Given the description of an element on the screen output the (x, y) to click on. 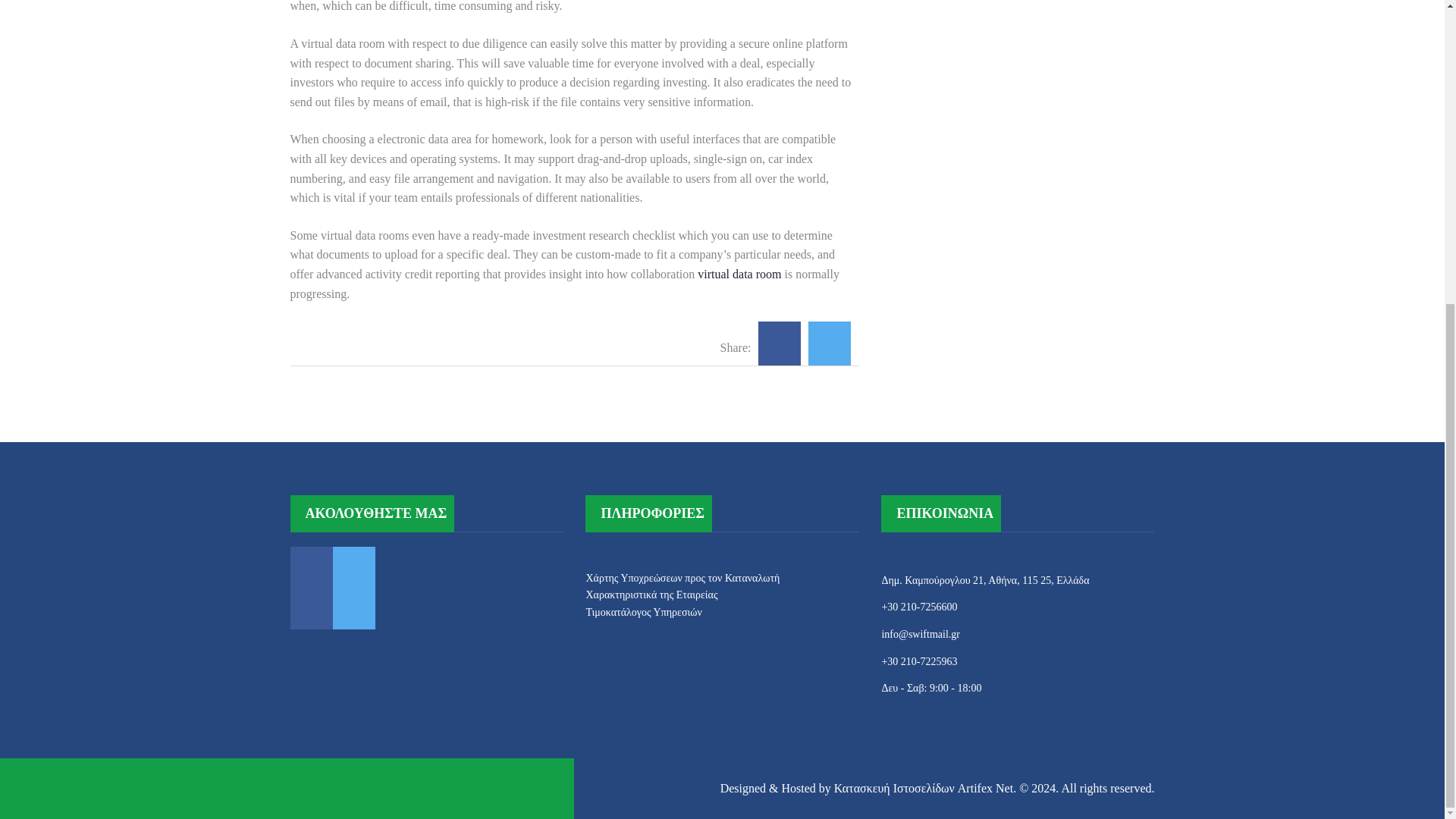
virtual data room (738, 273)
Artifex Net (985, 788)
